Given the description of an element on the screen output the (x, y) to click on. 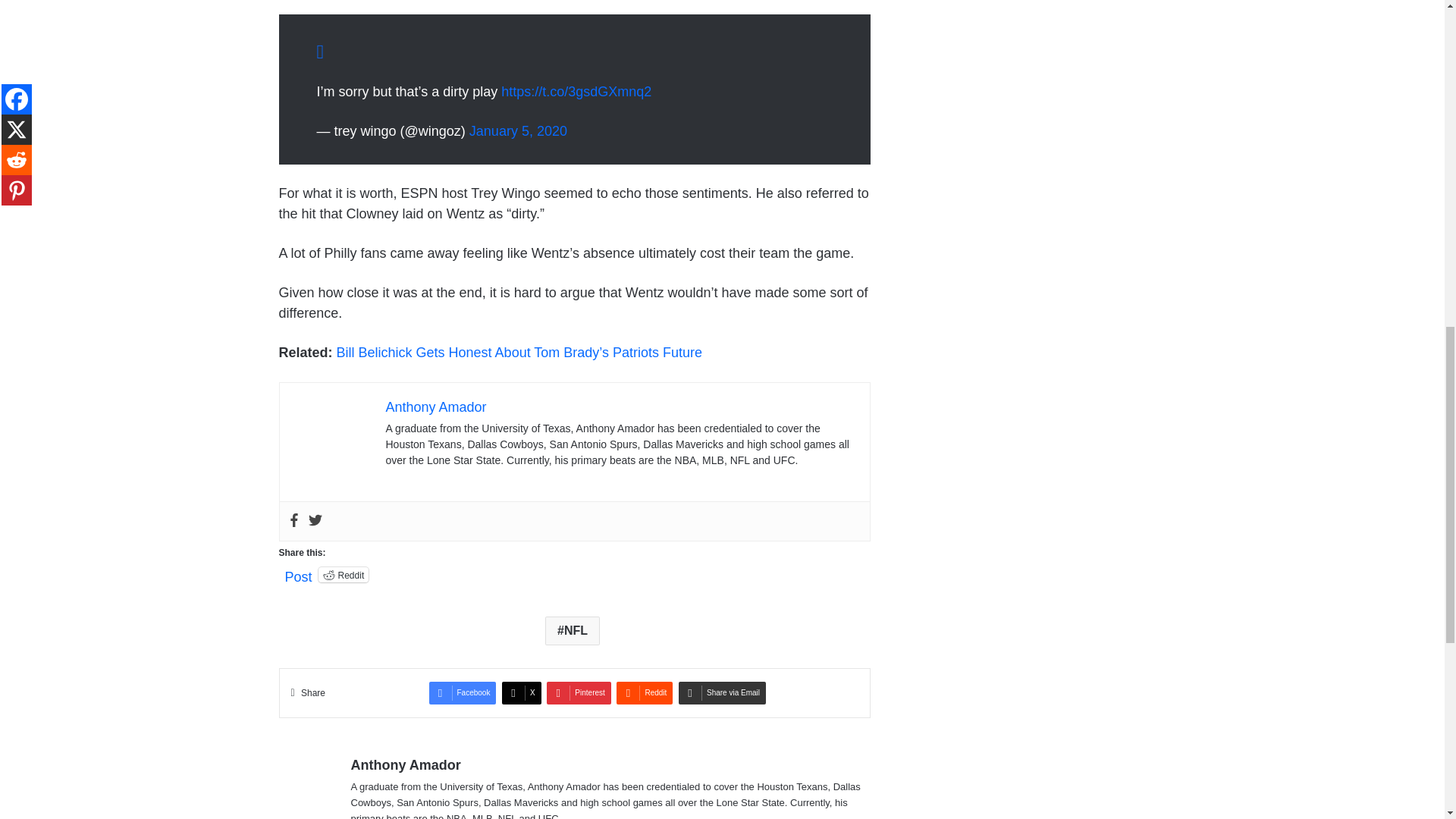
Anthony Amador (435, 406)
Post (299, 573)
Reddit (343, 574)
NFL (571, 630)
January 5, 2020 (517, 130)
